Given the description of an element on the screen output the (x, y) to click on. 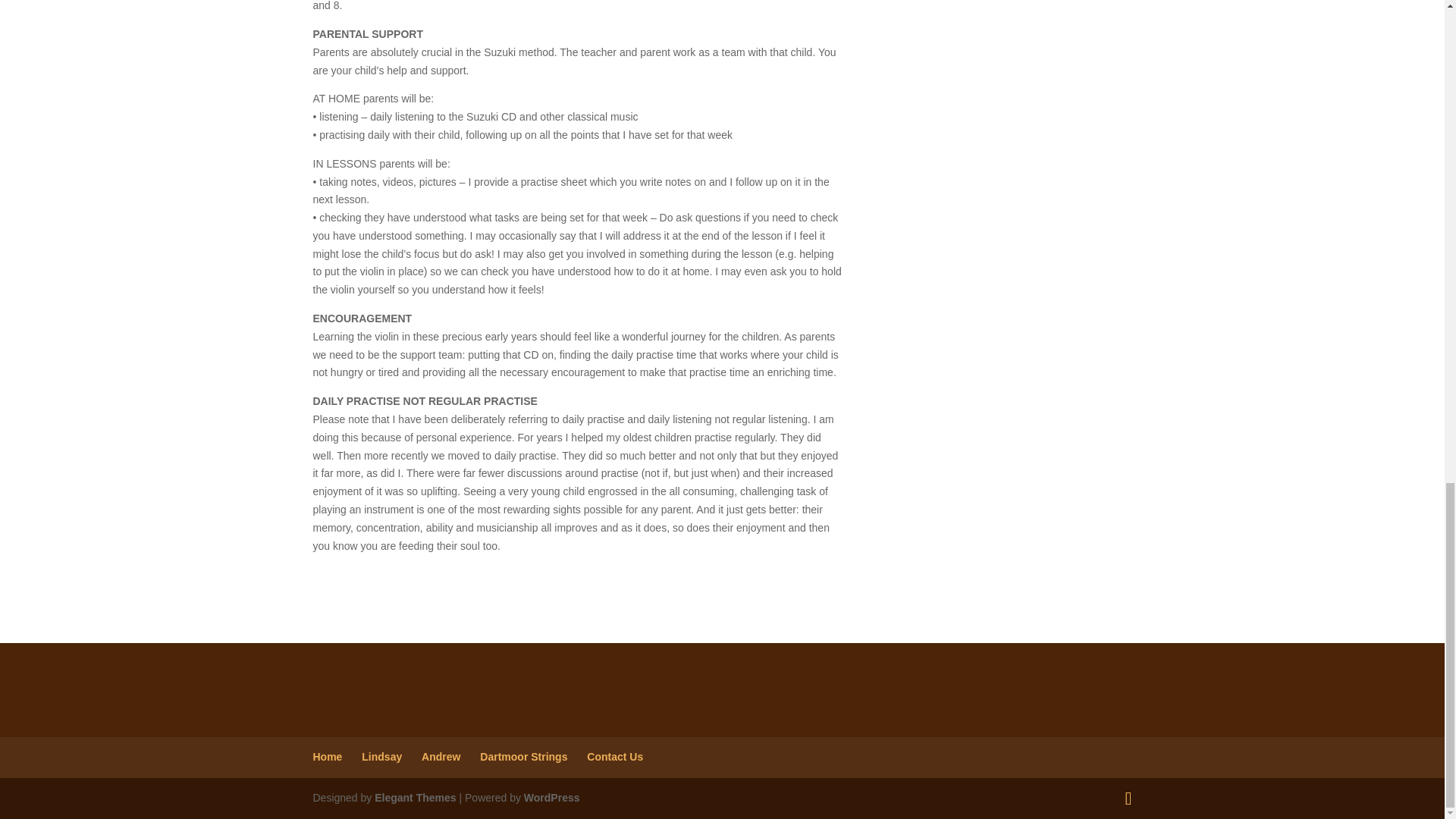
Contact Us (614, 756)
WordPress (551, 797)
Home (327, 756)
Andrew (441, 756)
Dartmoor Strings (523, 756)
Elegant Themes (414, 797)
Lindsay (381, 756)
Premium WordPress Themes (414, 797)
